Given the description of an element on the screen output the (x, y) to click on. 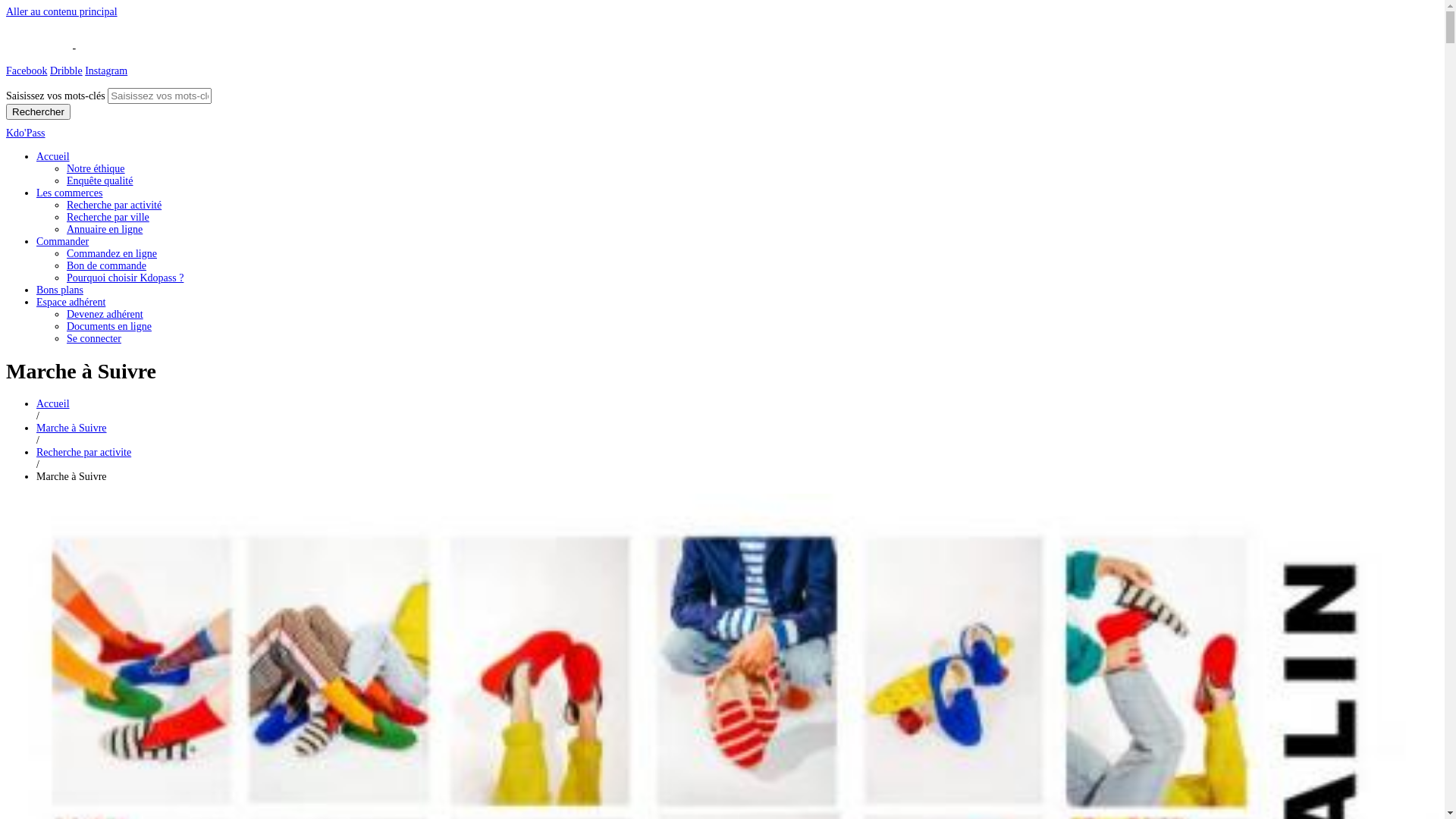
Recherche par activite Element type: text (83, 451)
Commandez en ligne Element type: text (111, 253)
Dribble Element type: text (66, 70)
Facebook Element type: text (26, 70)
Annuaire en ligne Element type: text (104, 229)
Pourquoi choisir Kdopass ? Element type: text (124, 277)
Recherche par ville Element type: text (107, 216)
Aller au contenu principal Element type: text (61, 11)
Kdo'Pass Element type: text (25, 132)
Bons plans Element type: text (59, 289)
CONTACT Element type: text (103, 47)
02 98 98 29 49 Element type: text (37, 47)
Accueil Element type: text (52, 402)
Instagram Element type: text (105, 70)
Documents en ligne Element type: text (108, 326)
Bon de commande Element type: text (106, 265)
Rechercher Element type: text (38, 111)
Commander Element type: text (62, 241)
Les commerces Element type: text (69, 192)
Se connecter Element type: text (93, 338)
Accueil Element type: text (52, 156)
